Given the description of an element on the screen output the (x, y) to click on. 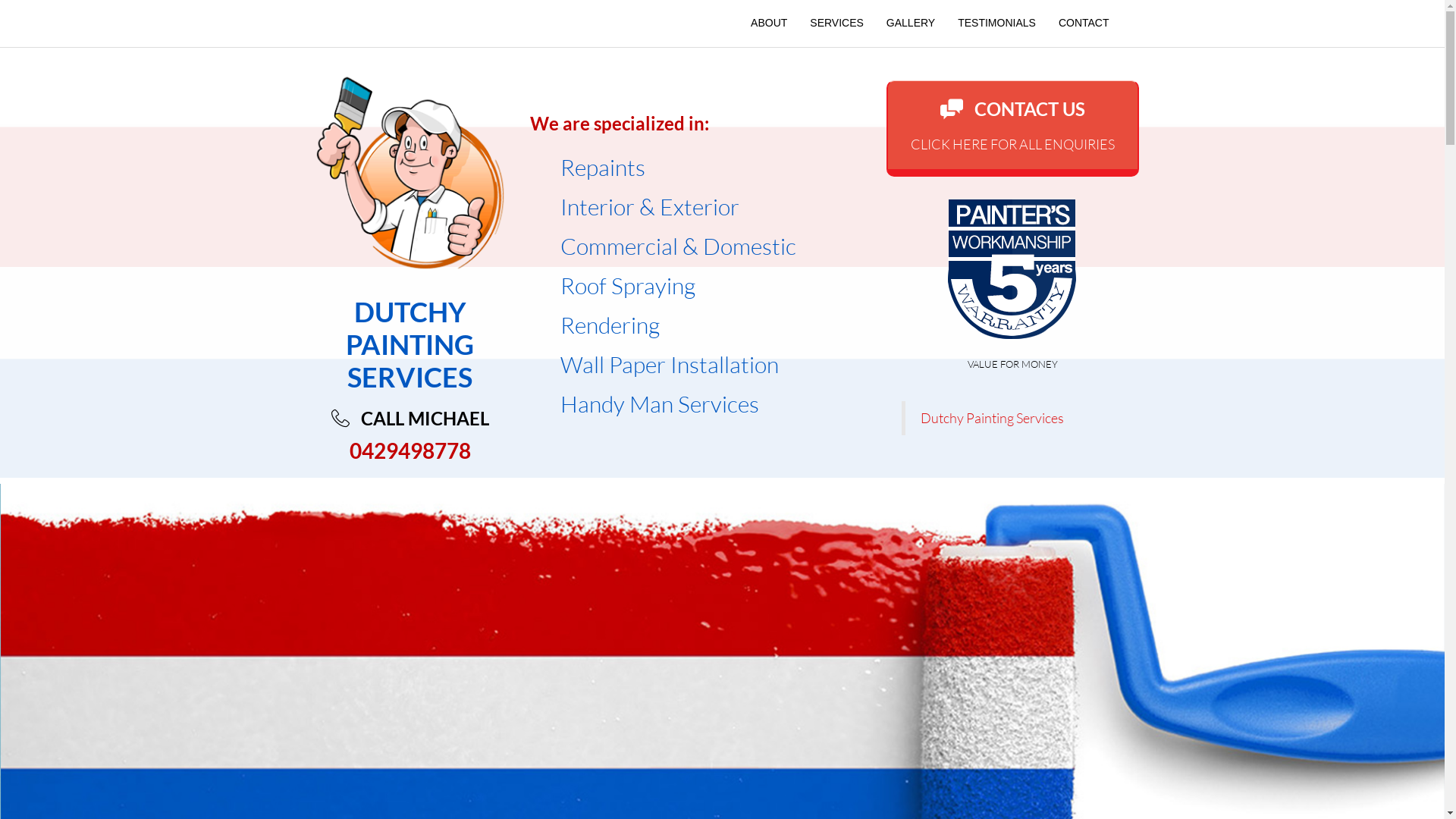
SERVICES Element type: text (836, 23)
TESTIMONIALS Element type: text (996, 23)
CONTACT Element type: text (1078, 23)
CONTACT US Element type: text (1029, 108)
ABOUT Element type: text (768, 23)
Dutchy Painting Services Element type: text (991, 417)
GALLERY Element type: text (910, 23)
CLICK HERE FOR ALL ENQUIRIES Element type: text (1012, 143)
